Given the description of an element on the screen output the (x, y) to click on. 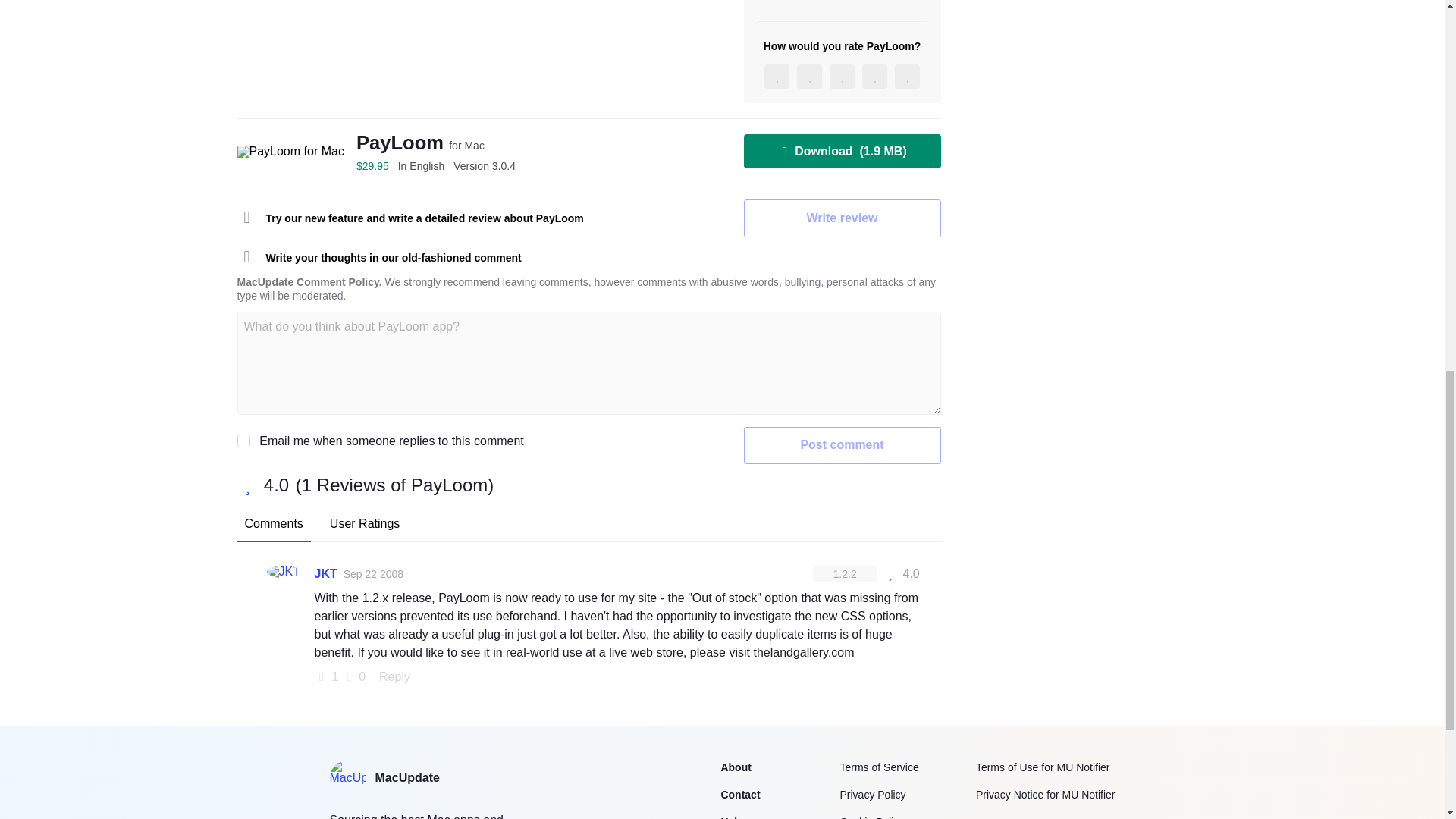
Version: 1.2.2 (844, 573)
JKT (325, 574)
3.0.4 (483, 165)
